Given the description of an element on the screen output the (x, y) to click on. 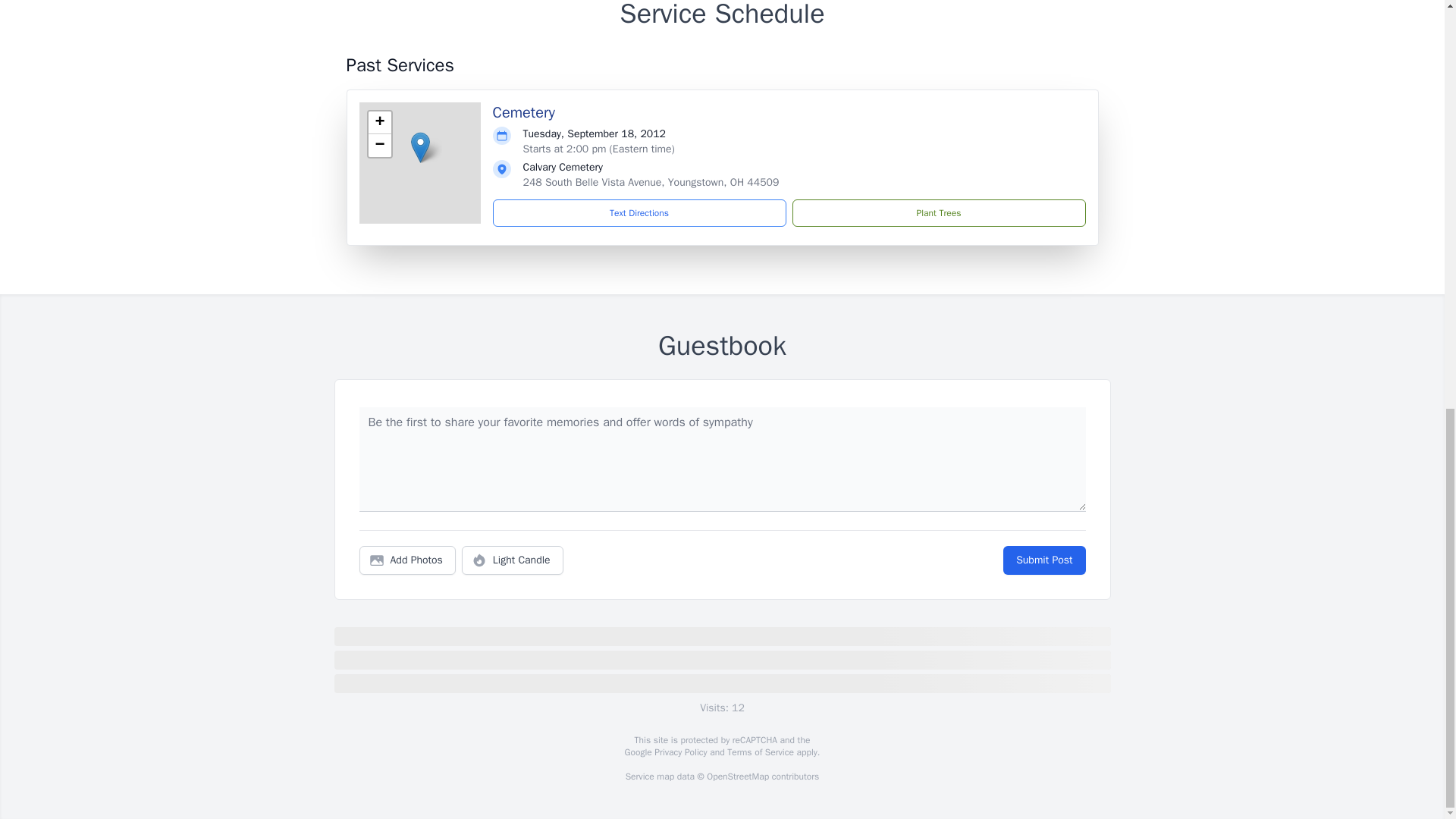
Light Candle (512, 560)
248 South Belle Vista Avenue, Youngstown, OH 44509 (650, 182)
Text Directions (639, 212)
Submit Post (1043, 560)
Zoom out (379, 145)
OpenStreetMap (737, 776)
Terms of Service (759, 752)
Zoom in (379, 122)
Privacy Policy (679, 752)
Add Photos (407, 560)
